Given the description of an element on the screen output the (x, y) to click on. 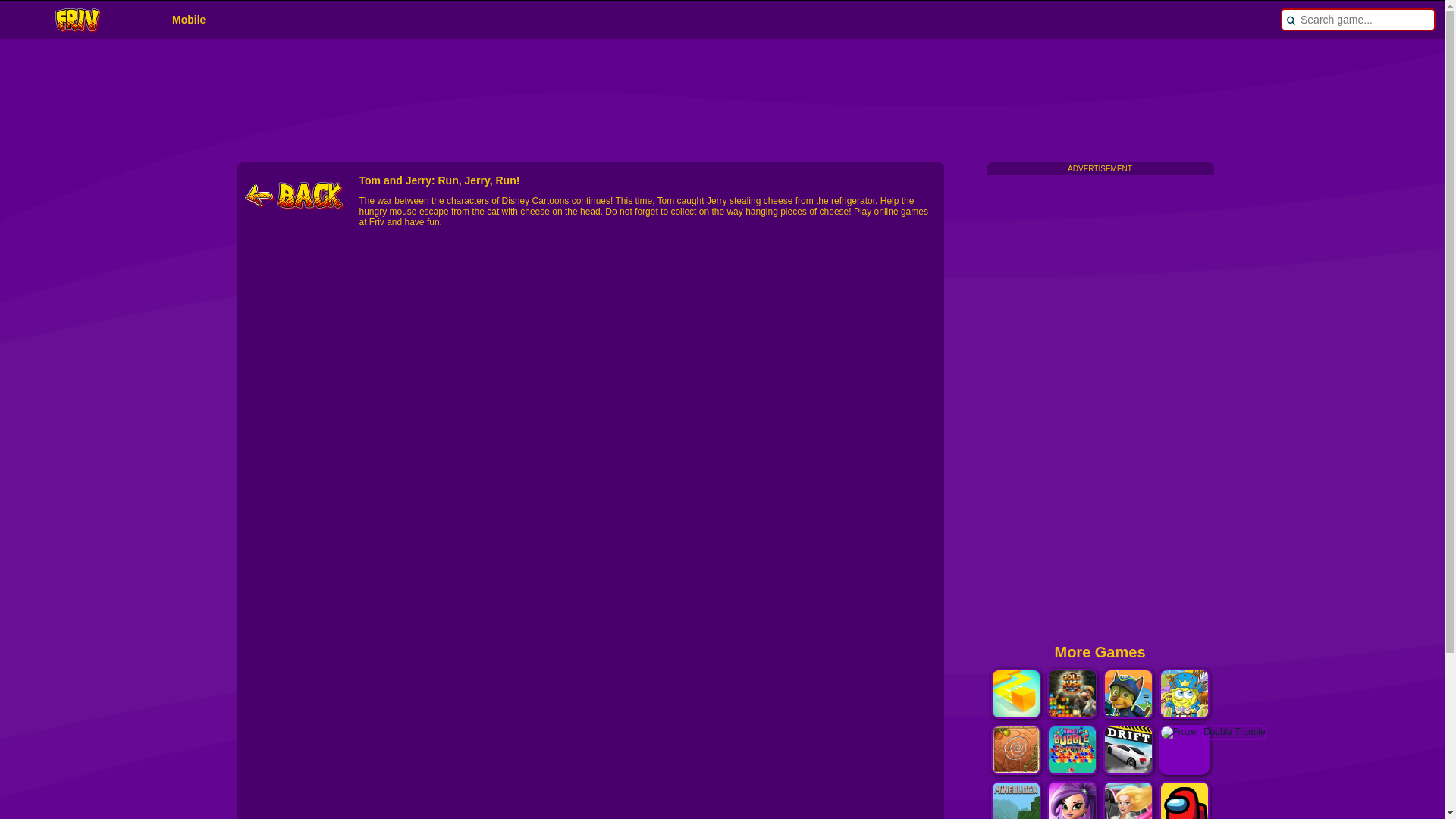
Advertisement (1098, 402)
Mobile Games (188, 19)
FRIV (78, 29)
Advertisement (603, 92)
Mobile (188, 19)
